Given the description of an element on the screen output the (x, y) to click on. 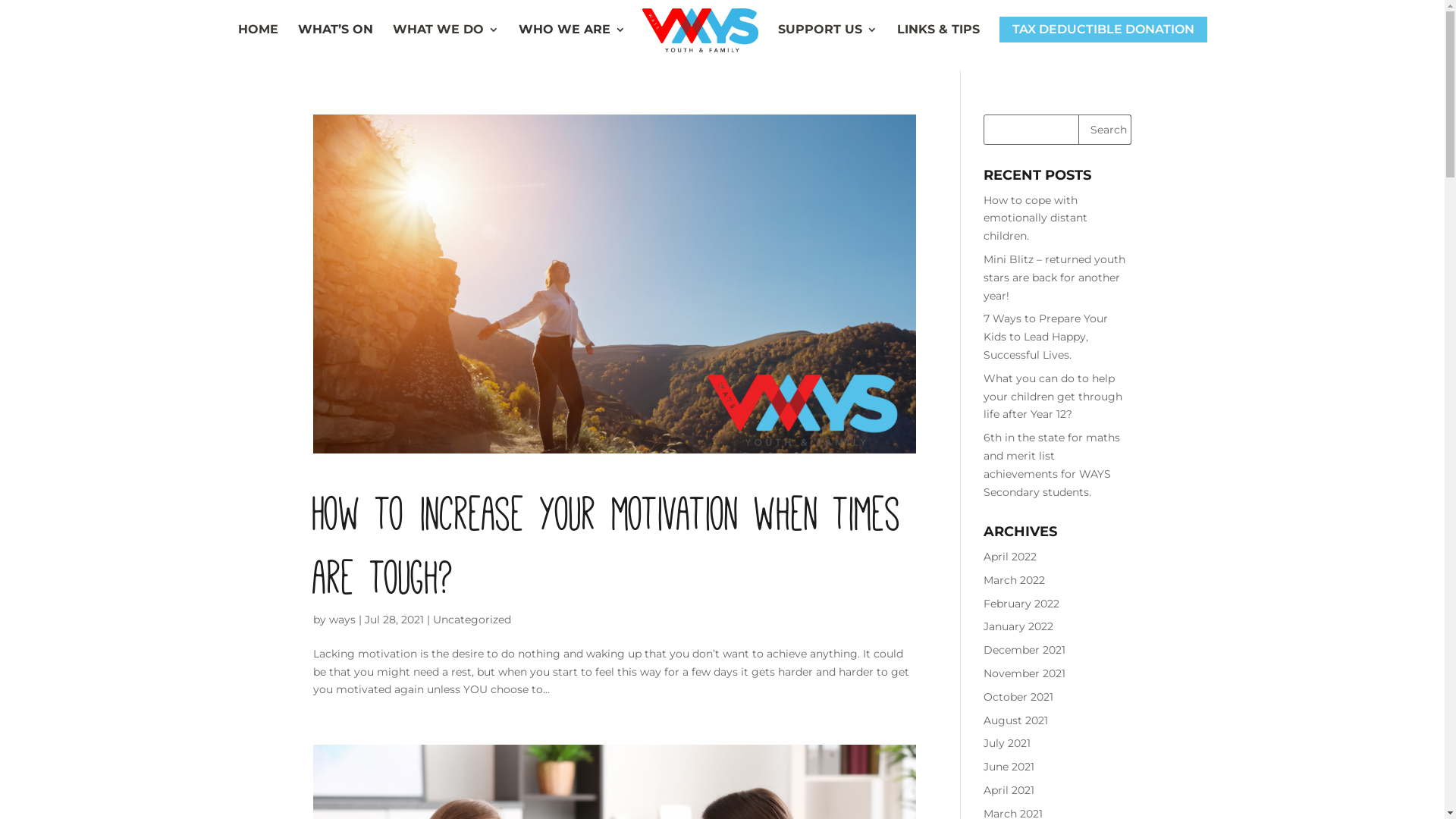
April 2022 Element type: text (1009, 556)
SUPPORT US Element type: text (827, 46)
WHO WE ARE Element type: text (571, 46)
How to cope with emotionally distant children.  Element type: text (1035, 218)
LINKS & TIPS Element type: text (937, 46)
October 2021 Element type: text (1018, 696)
November 2021 Element type: text (1024, 673)
August 2021 Element type: text (1015, 720)
February 2022 Element type: text (1021, 603)
Uncategorized Element type: text (471, 619)
ways Element type: text (342, 619)
January 2022 Element type: text (1018, 626)
July 2021 Element type: text (1006, 742)
How to increase your motivation when times are tough?  Element type: text (606, 539)
TAX DEDUCTIBLE DONATION Element type: text (1102, 43)
HOME Element type: text (258, 46)
7 Ways to Prepare Your Kids to Lead Happy, Successful Lives. Element type: text (1045, 336)
June 2021 Element type: text (1008, 766)
Search Element type: text (1104, 129)
March 2022 Element type: text (1013, 579)
WHAT WE DO Element type: text (445, 46)
December 2021 Element type: text (1024, 649)
April 2021 Element type: text (1008, 790)
